Given the description of an element on the screen output the (x, y) to click on. 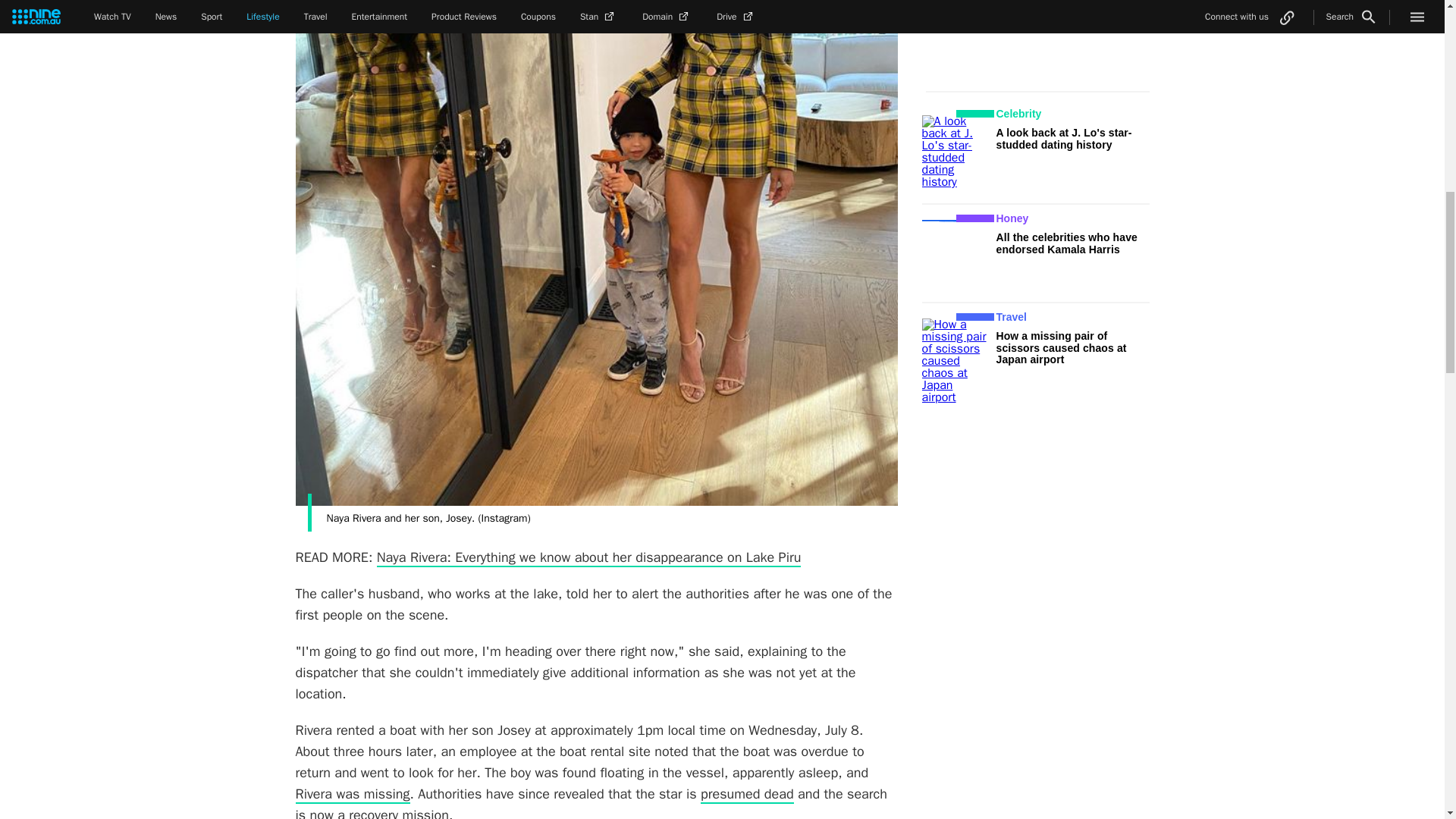
Rivera was missing (352, 794)
presumed dead (746, 794)
presumed dead (746, 794)
Rivera was missing (352, 794)
